Given the description of an element on the screen output the (x, y) to click on. 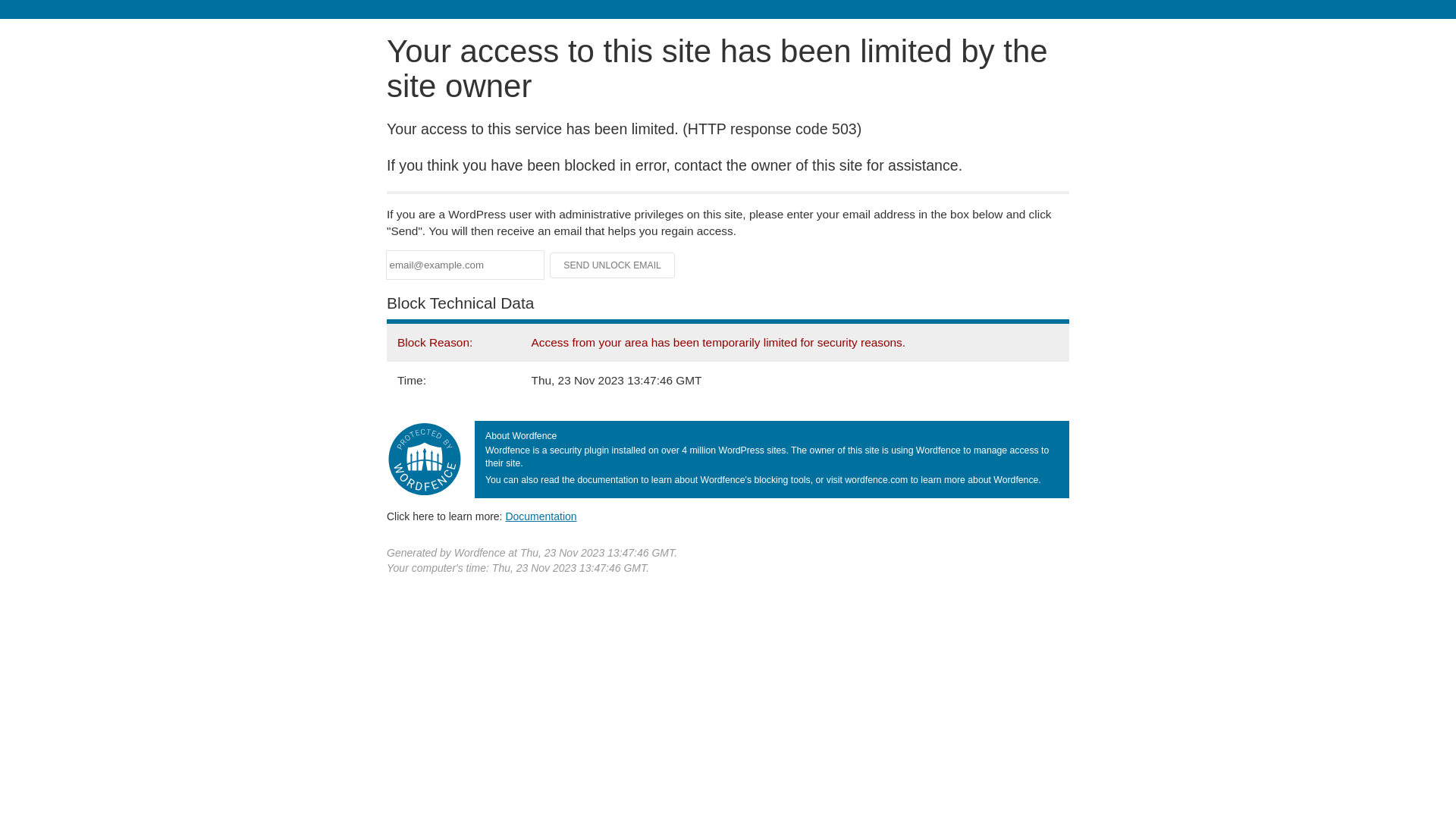
Documentation Element type: text (540, 516)
Send Unlock Email Element type: text (612, 265)
